Given the description of an element on the screen output the (x, y) to click on. 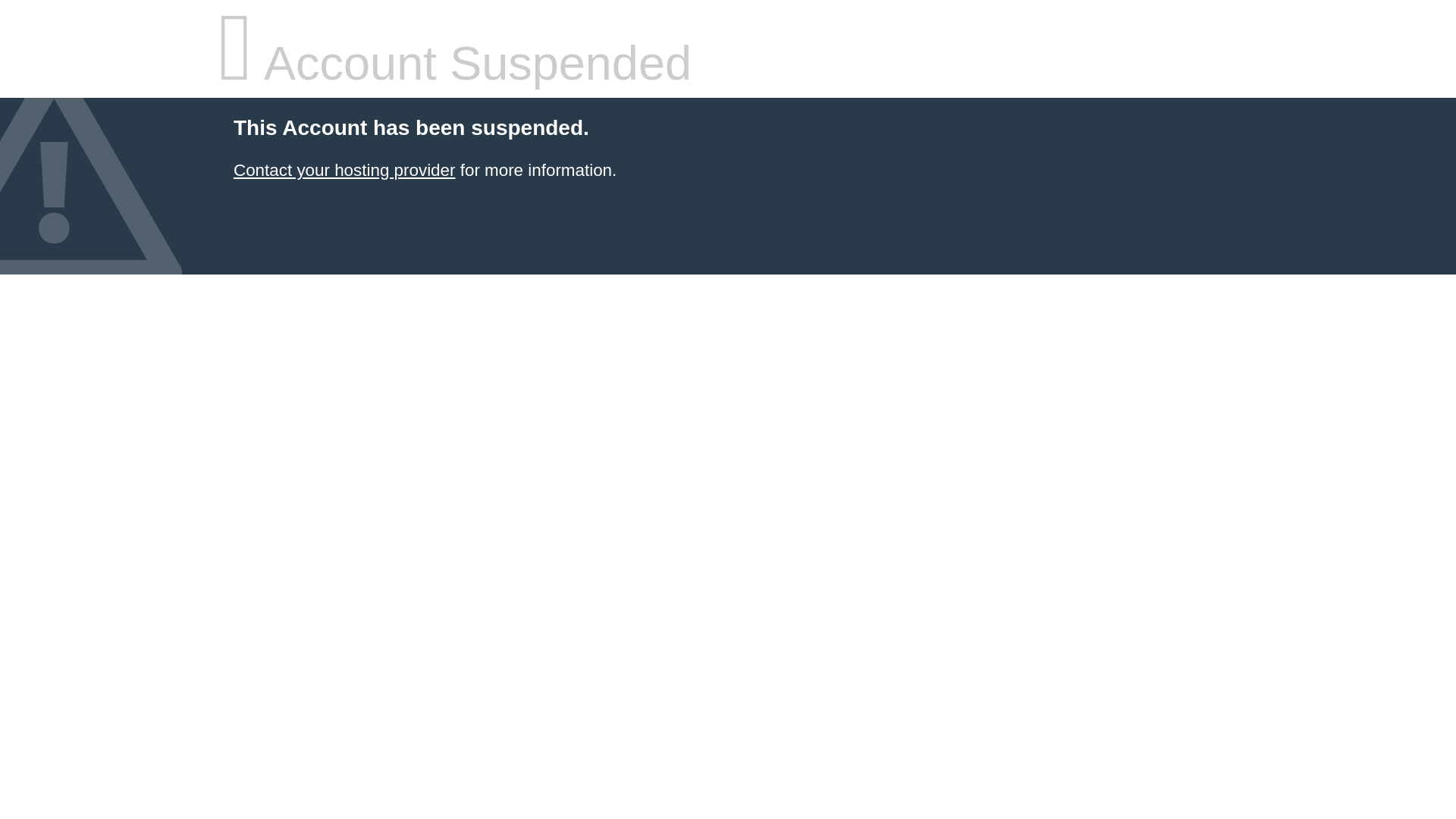
Contact your hosting provider (343, 169)
